Given the description of an element on the screen output the (x, y) to click on. 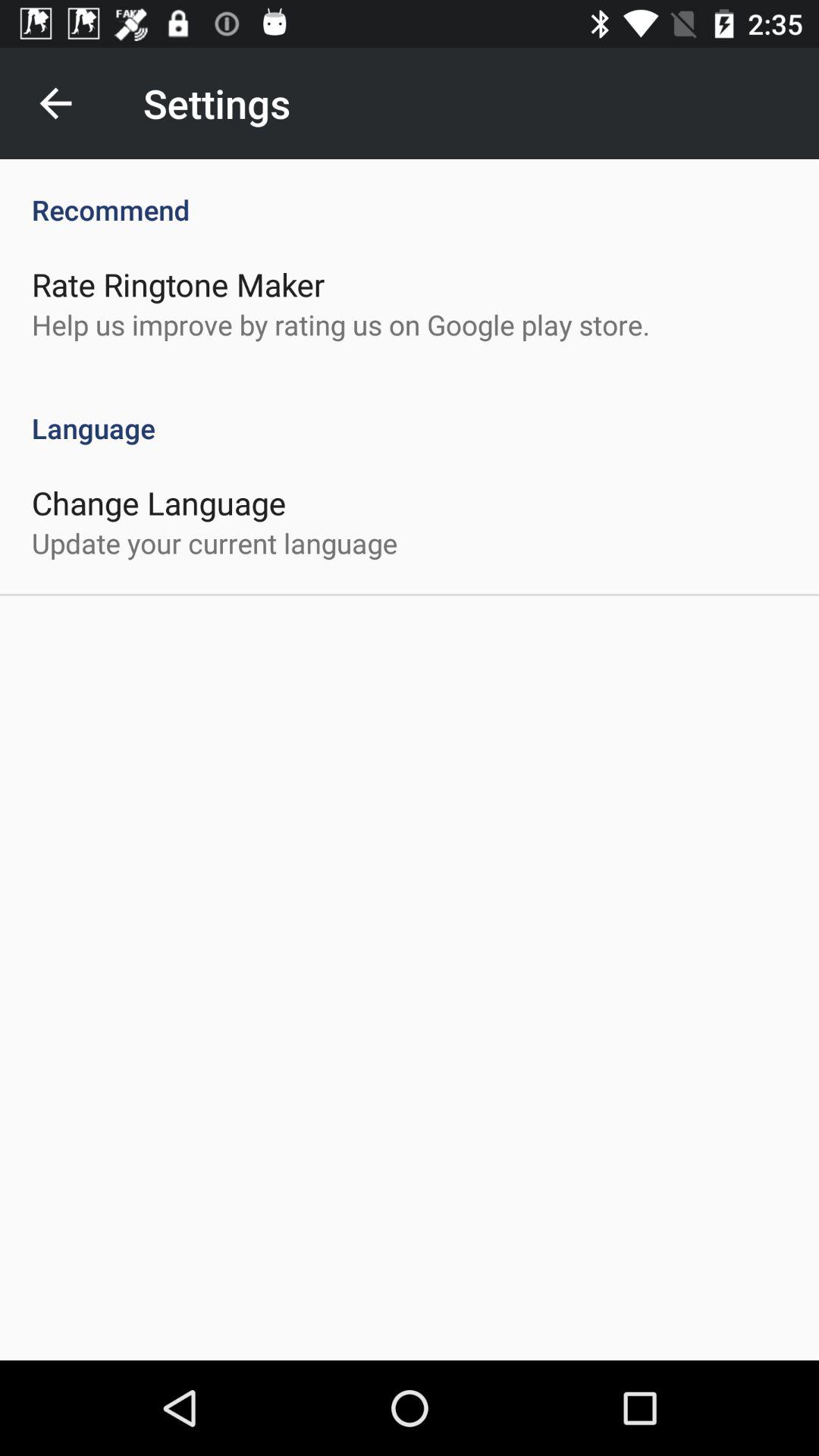
click recommend (409, 193)
